Given the description of an element on the screen output the (x, y) to click on. 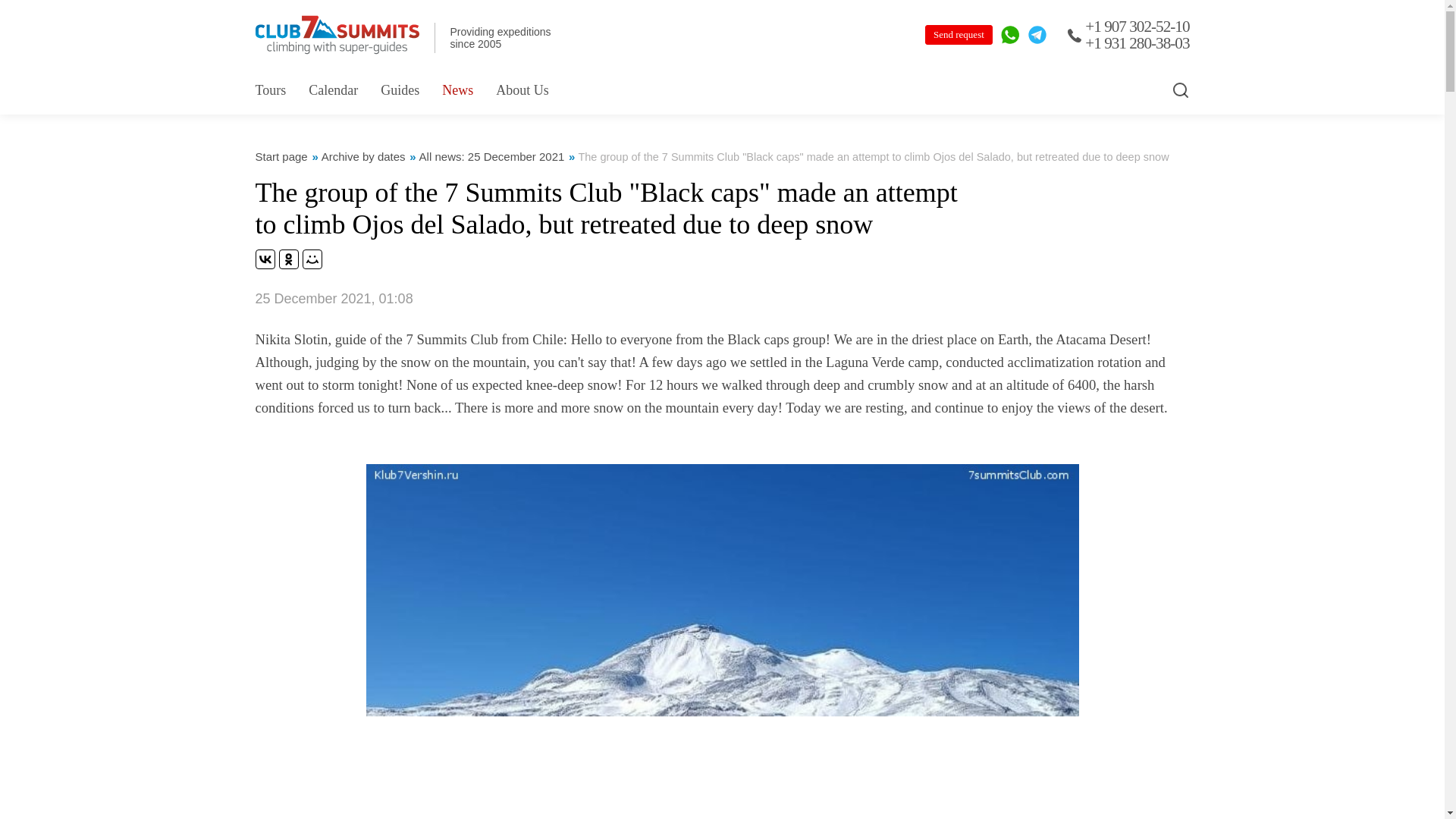
Start page (280, 155)
About Us (522, 89)
Tours (269, 89)
Archive by dates (363, 155)
All news: 25 December 2021 (491, 155)
Calendar (333, 89)
Guides (399, 89)
Send request (958, 35)
News (457, 89)
